Given the description of an element on the screen output the (x, y) to click on. 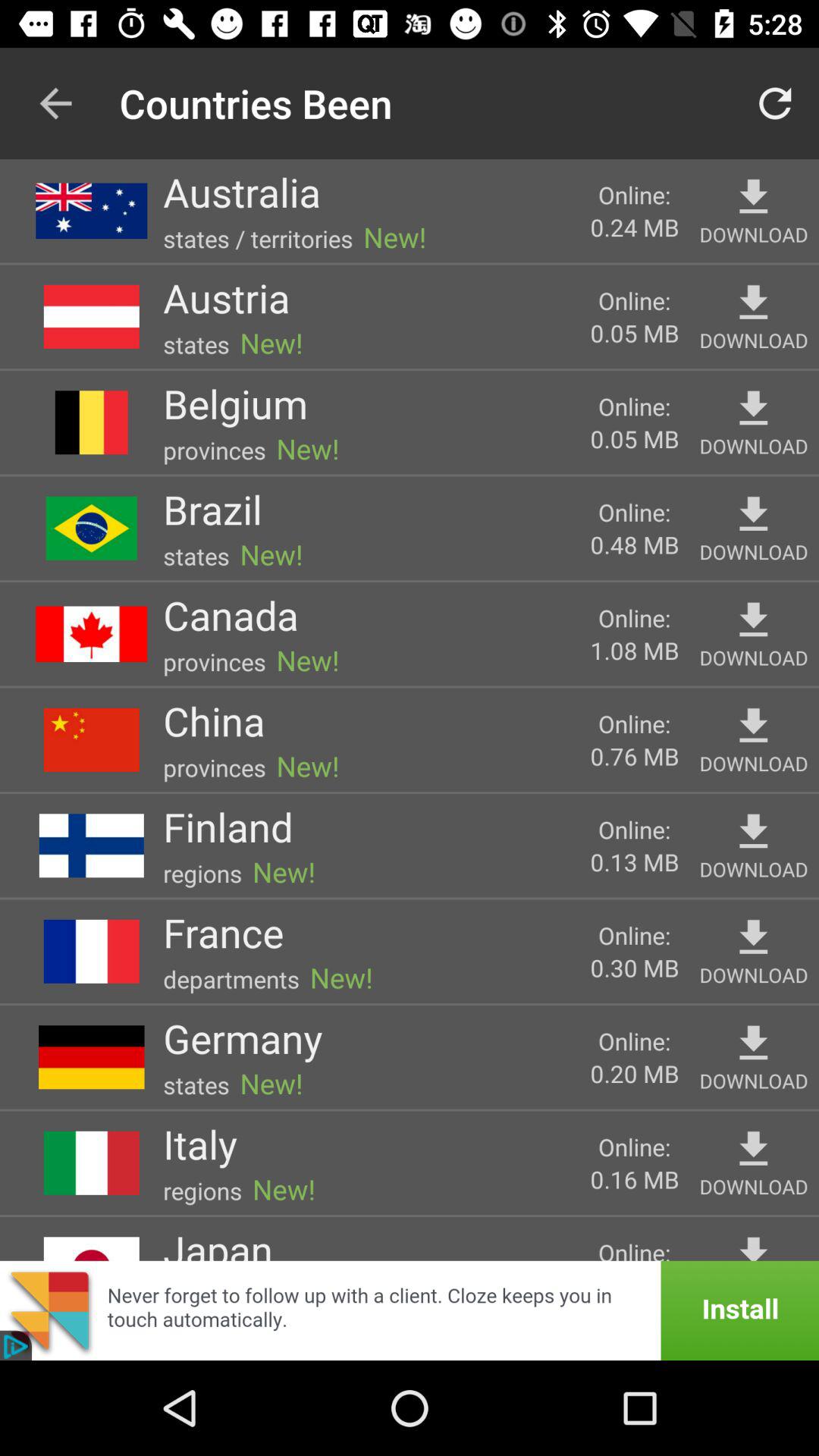
download (753, 1245)
